Given the description of an element on the screen output the (x, y) to click on. 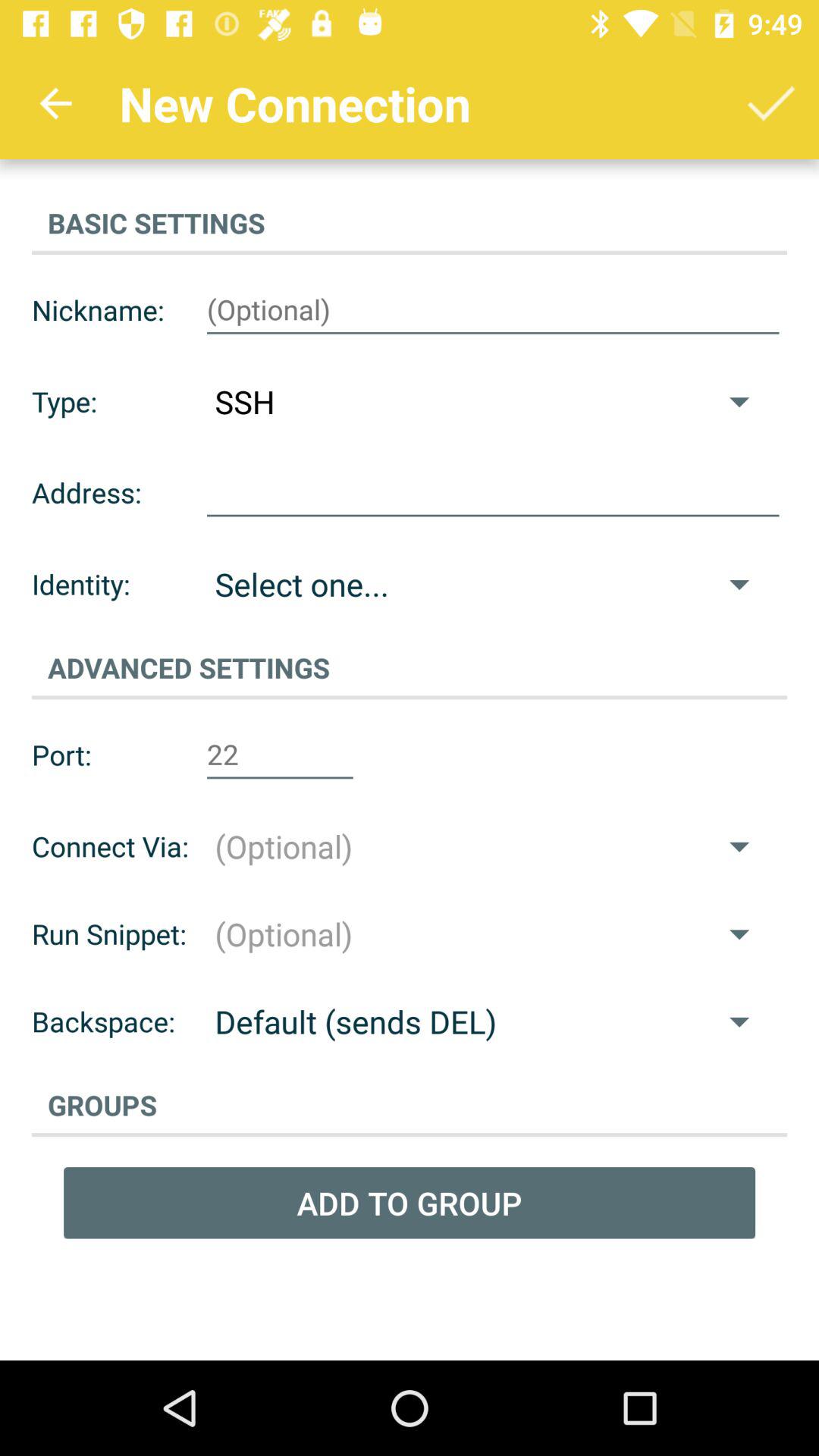
enter address (493, 492)
